Given the description of an element on the screen output the (x, y) to click on. 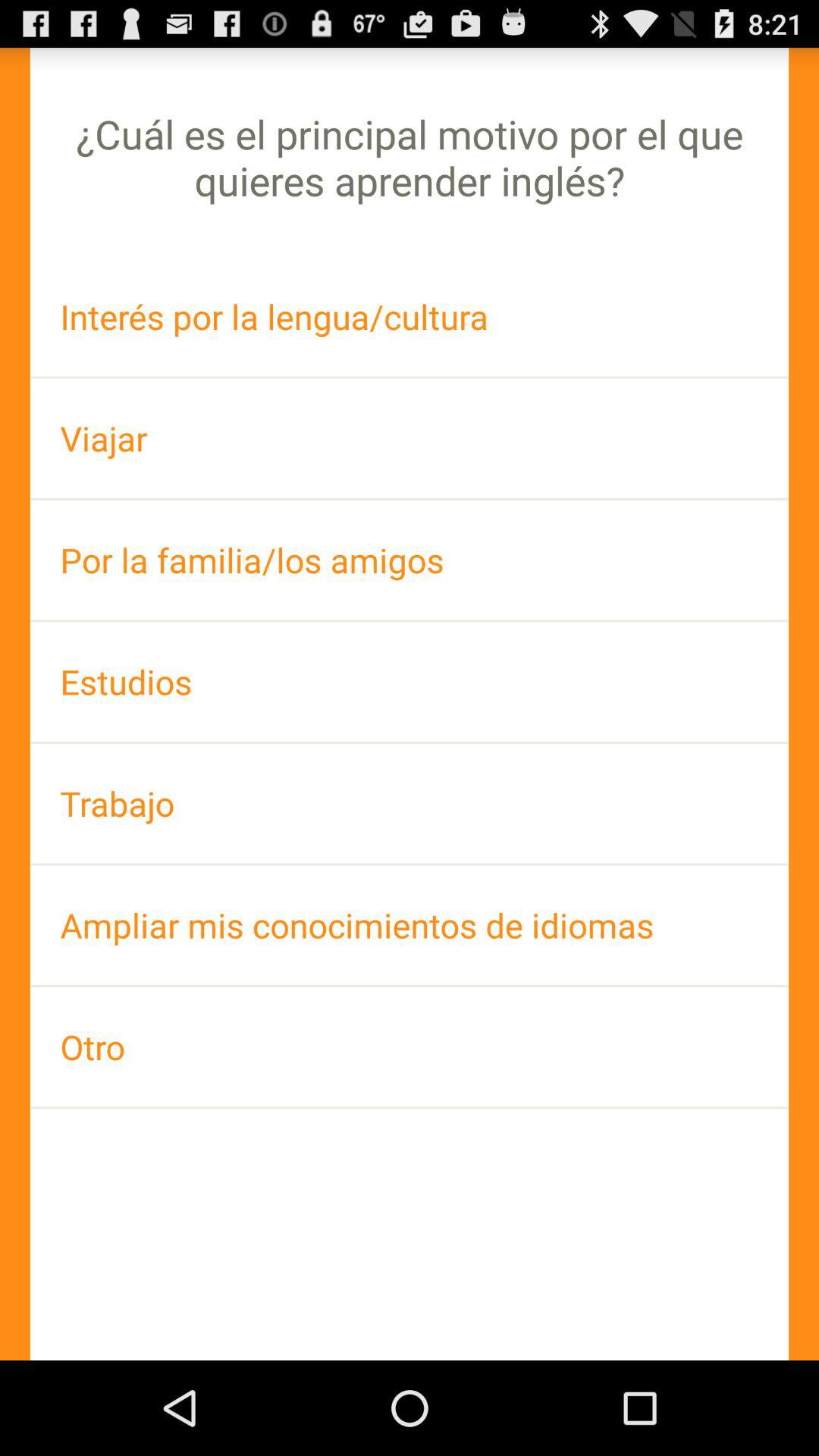
jump to estudios item (409, 681)
